Given the description of an element on the screen output the (x, y) to click on. 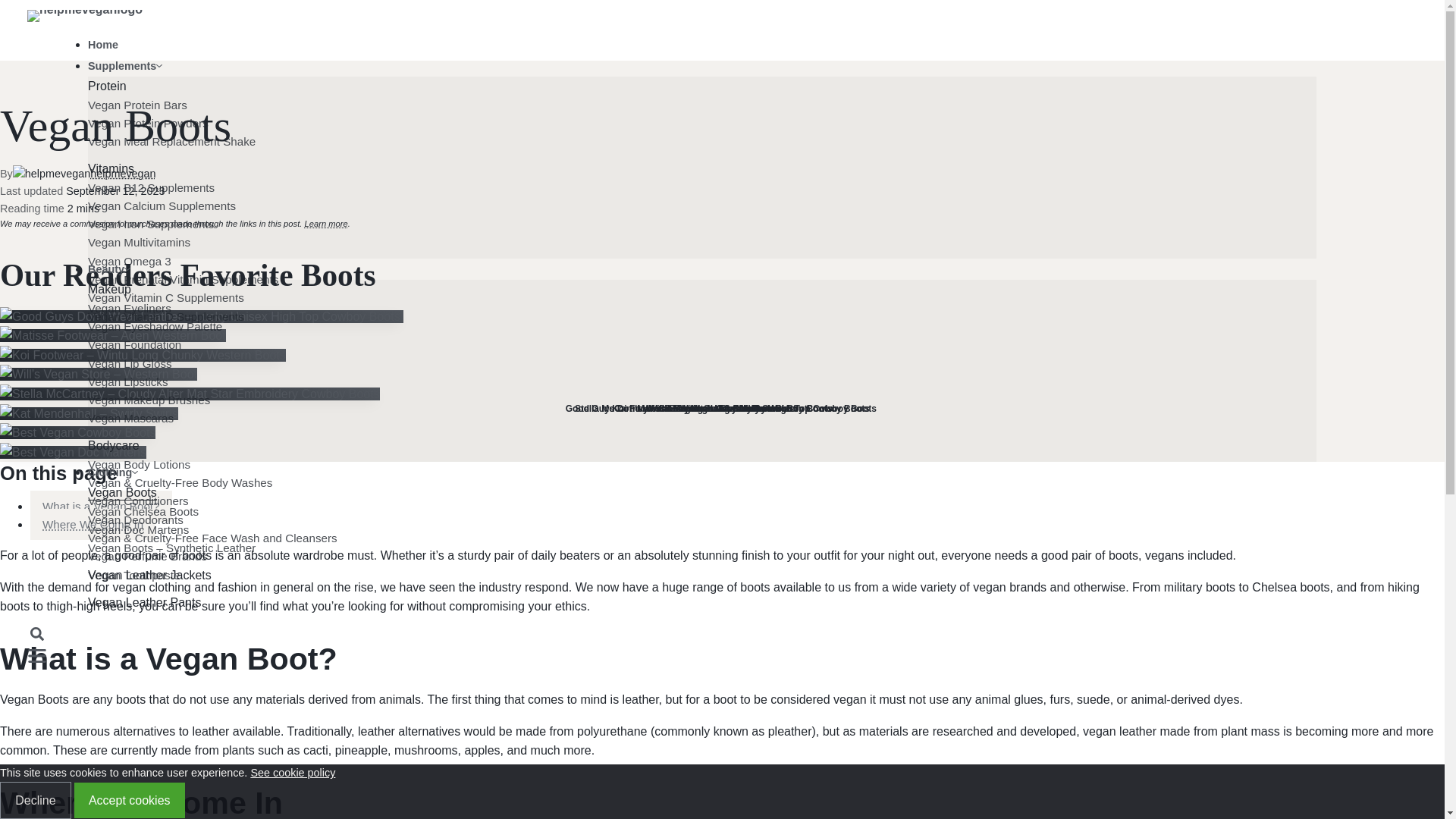
Vegan Doc Martens (671, 529)
Vegan Vitamin D Supplements (671, 316)
Vegan Leather Pants (671, 602)
Vegan Boots (671, 492)
Vegan Chelsea Boots (671, 511)
Vegan Eyeshadow Palette (671, 326)
Vegan Protein Powders (671, 123)
Vegan B12 Supplements (671, 188)
Vegan Protein Bars (671, 105)
Vegan Prenatal Vitamin Supplements (671, 280)
